Given the description of an element on the screen output the (x, y) to click on. 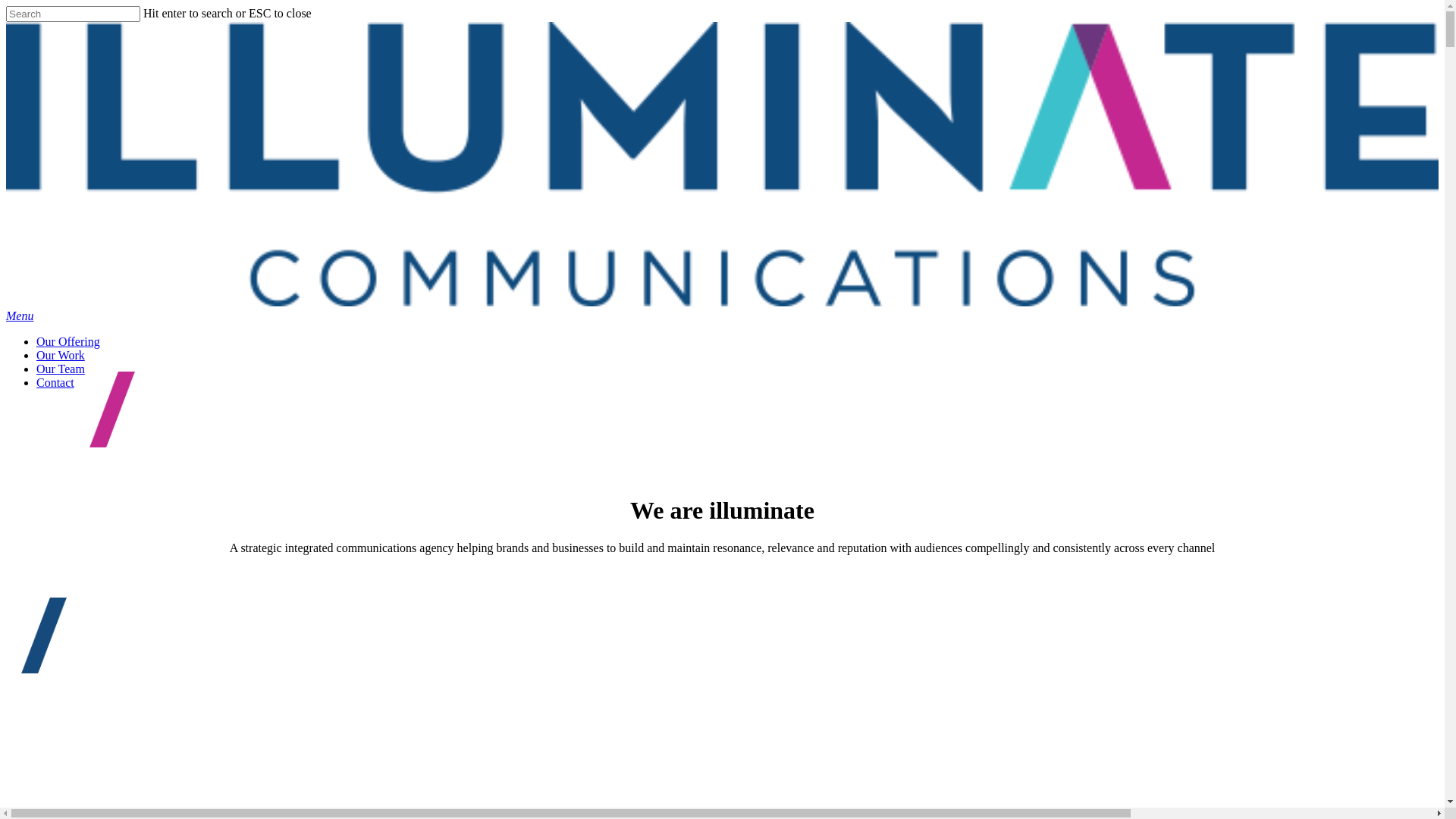
Our Team Element type: text (60, 368)
Contact Element type: text (55, 382)
Our Offering Element type: text (68, 341)
Menu Element type: text (19, 315)
Our Work Element type: text (60, 354)
